Given the description of an element on the screen output the (x, y) to click on. 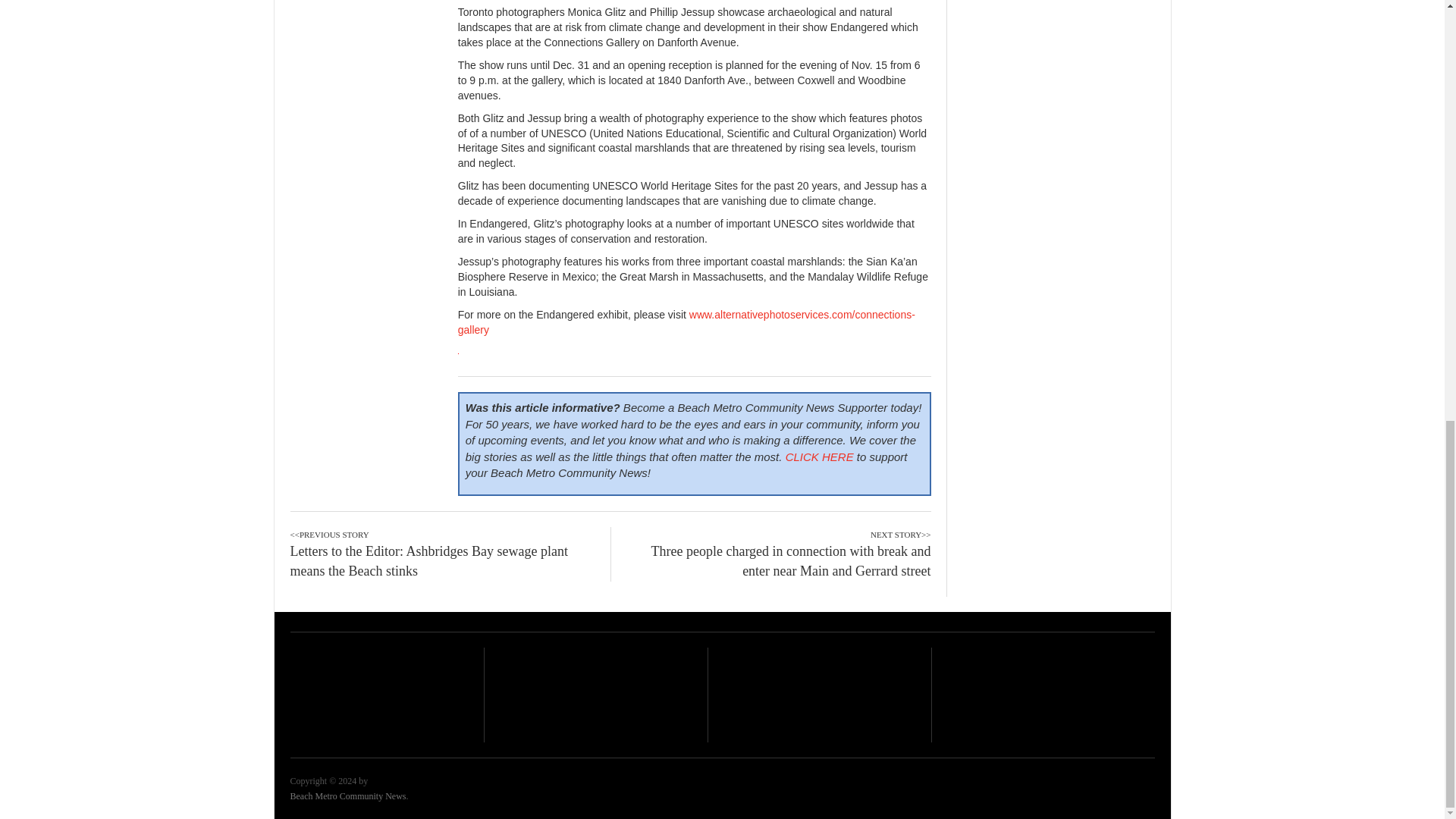
Share On Facebook (477, 0)
Share On Reddit (556, 0)
Share On Twitter (516, 0)
